Given the description of an element on the screen output the (x, y) to click on. 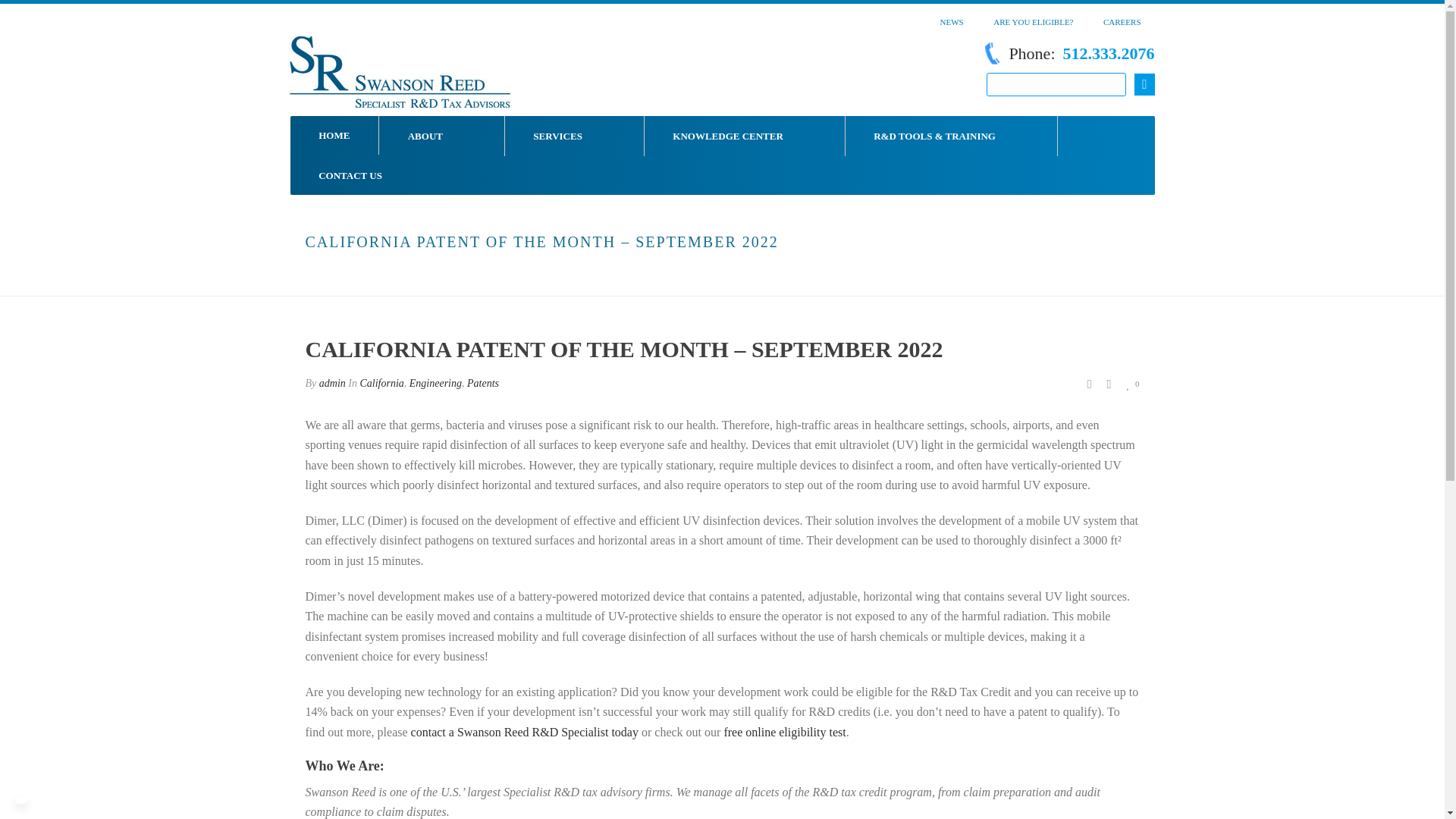
SERVICES (575, 136)
Posts by admin (332, 383)
NEWS (952, 18)
ARE YOU ELIGIBLE? (1032, 18)
KNOWLEDGE CENTER (745, 136)
CAREERS (1122, 18)
ABOUT (441, 136)
HOME (333, 135)
CONTACT US (349, 175)
